Given the description of an element on the screen output the (x, y) to click on. 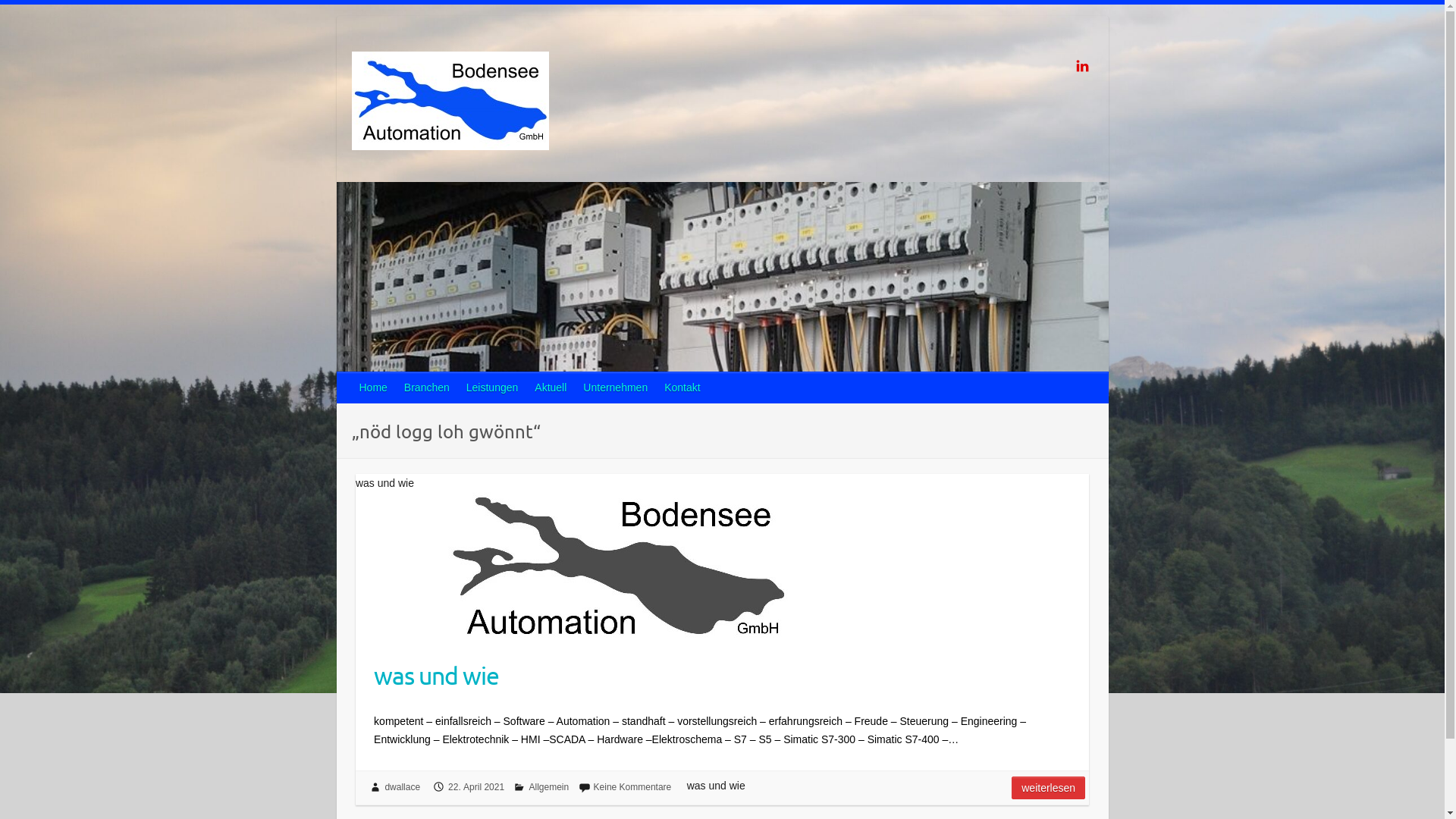
Leistungen Element type: text (492, 387)
Home Element type: text (373, 387)
was und wie Element type: hover (620, 567)
Allgemein Element type: text (548, 786)
dwallace Element type: text (402, 786)
22. April 2021 Element type: text (476, 786)
Skip to content Element type: text (0, 4)
was und wie Element type: text (721, 672)
Unternehmen Element type: text (615, 387)
Branchen Element type: text (427, 387)
Aktuell Element type: text (551, 387)
weiterlesen Element type: text (1048, 787)
Bodensee Automation GmbH Element type: hover (450, 103)
Kontakt Element type: text (682, 387)
Keine Kommentare Element type: text (632, 786)
Bodensee Automation GmbH on LinkedIn Element type: hover (1082, 65)
